Given the description of an element on the screen output the (x, y) to click on. 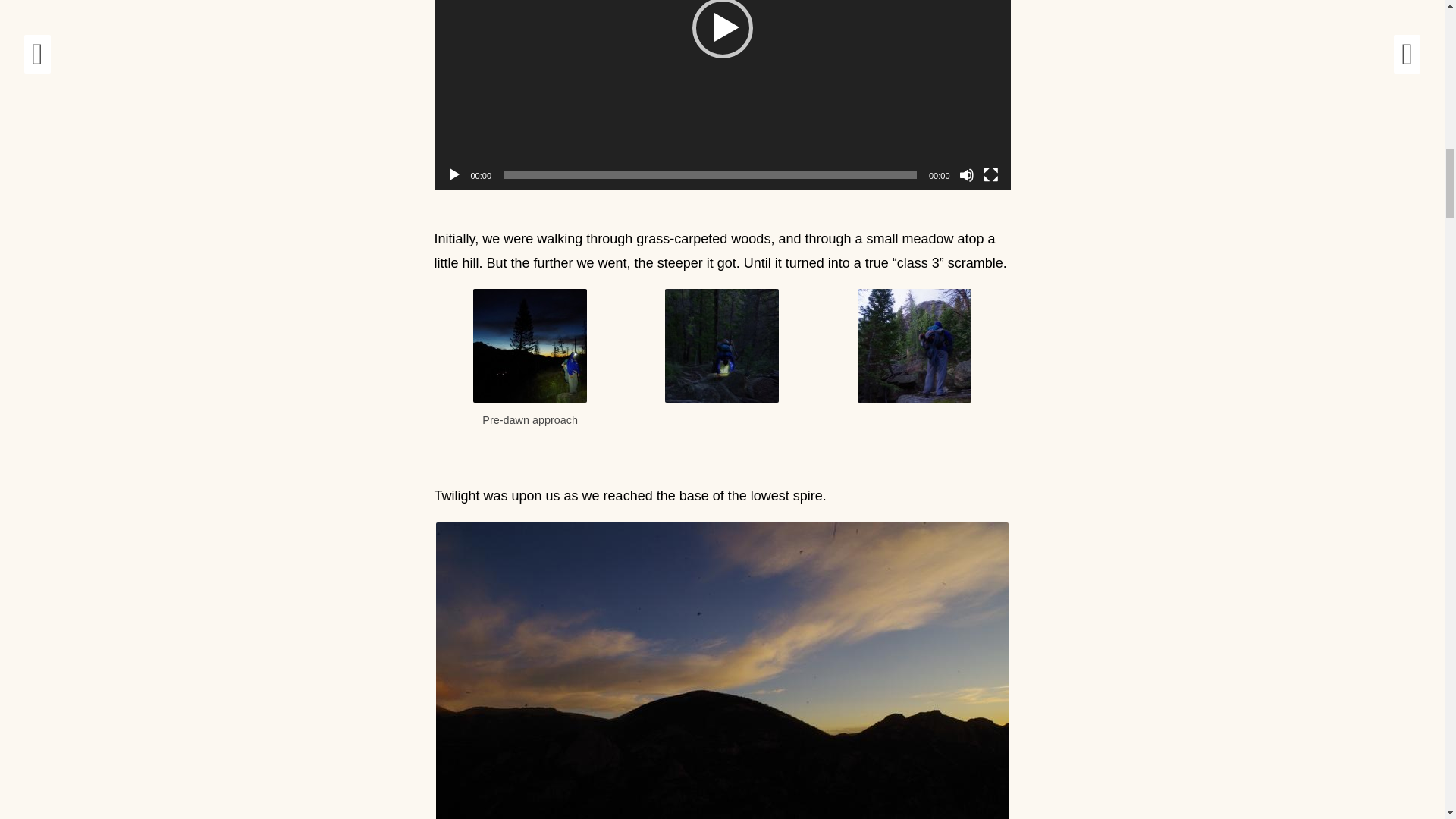
Mute (966, 174)
Fullscreen (989, 174)
Play (453, 174)
